Given the description of an element on the screen output the (x, y) to click on. 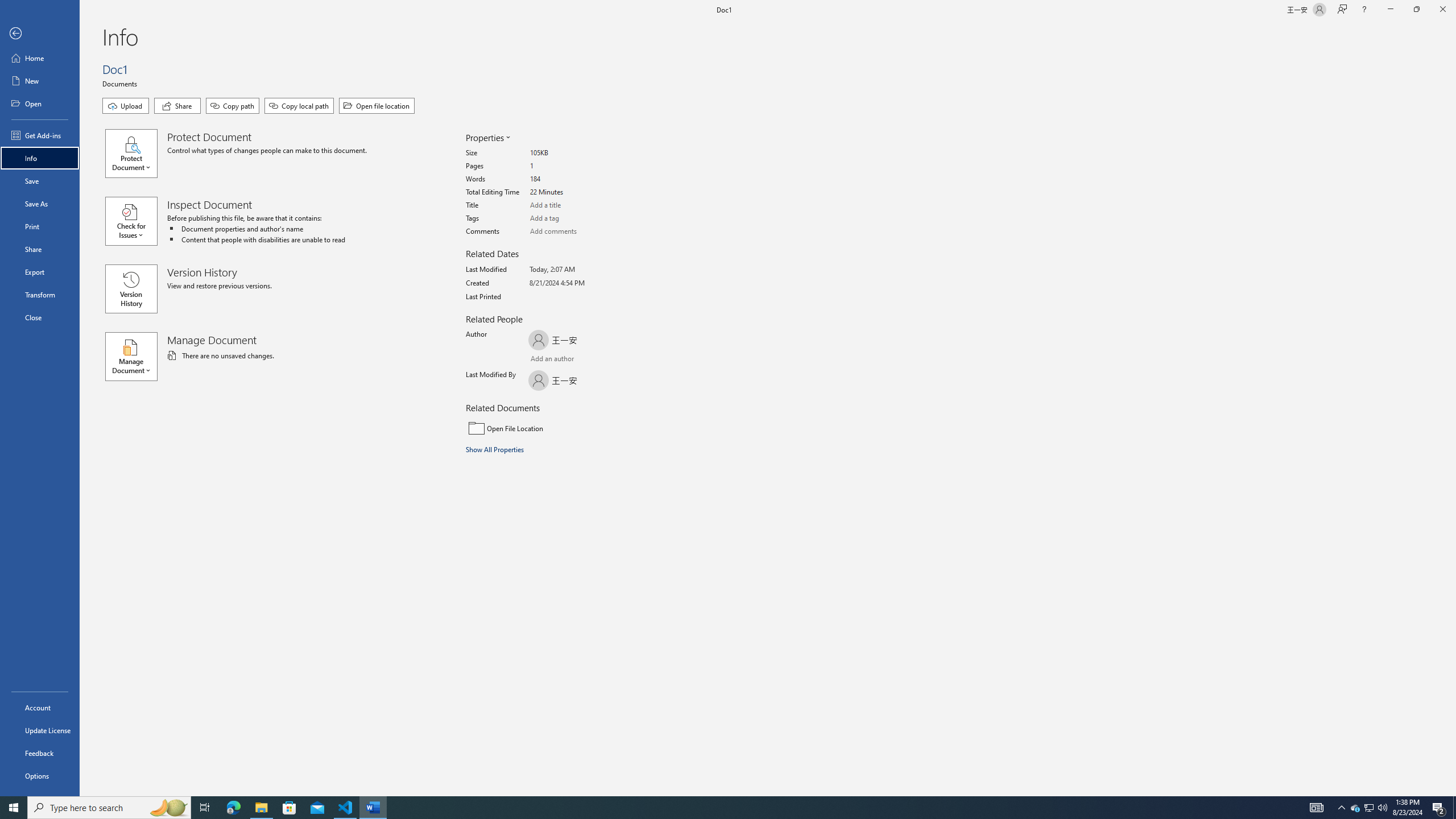
Browse Address Book (595, 359)
Back (40, 33)
Options (40, 775)
